Given the description of an element on the screen output the (x, y) to click on. 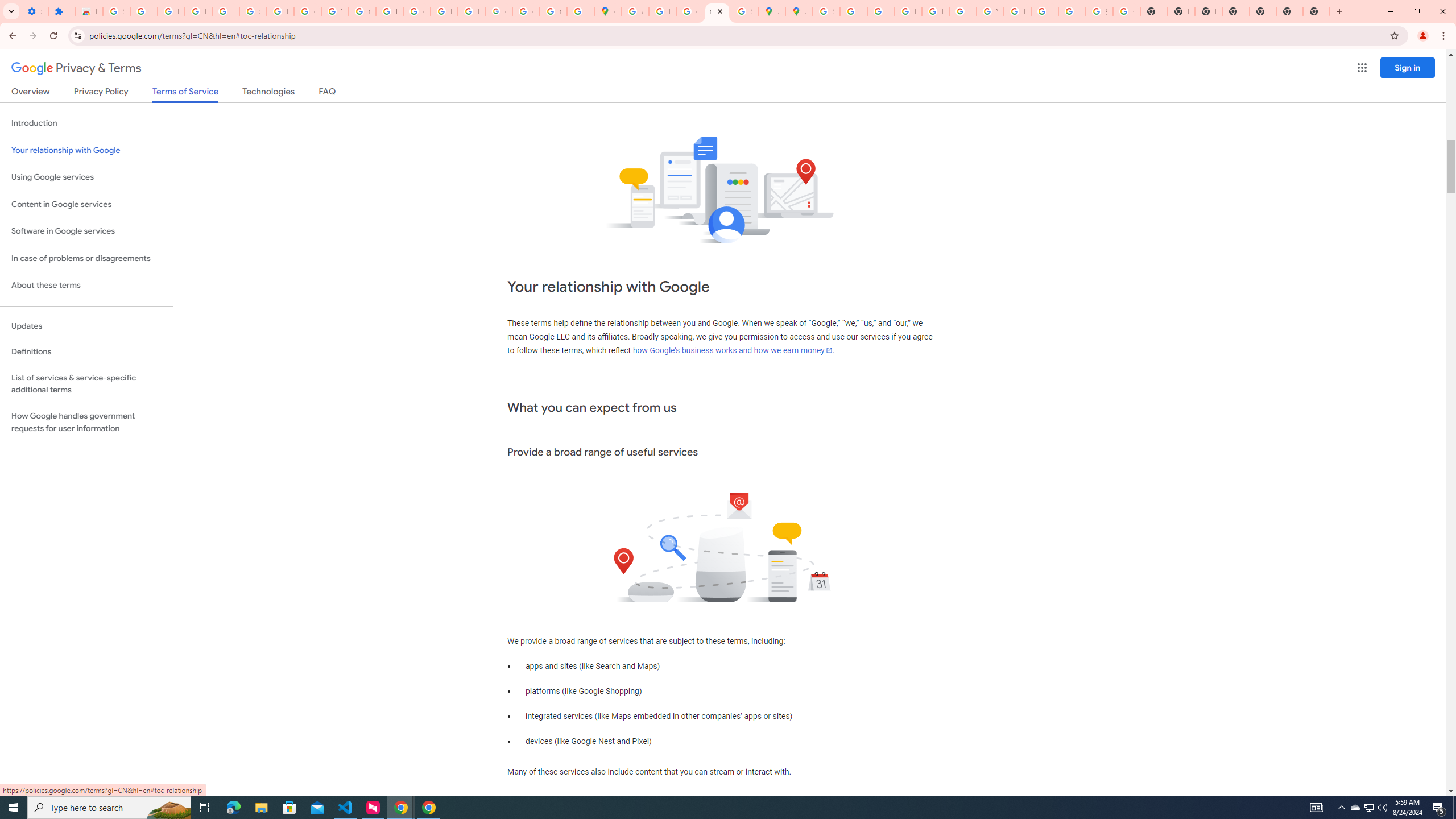
How Google handles government requests for user information (86, 422)
Privacy Help Center - Policies Help (908, 11)
Sign in - Google Accounts (116, 11)
Create your Google Account (690, 11)
